Given the description of an element on the screen output the (x, y) to click on. 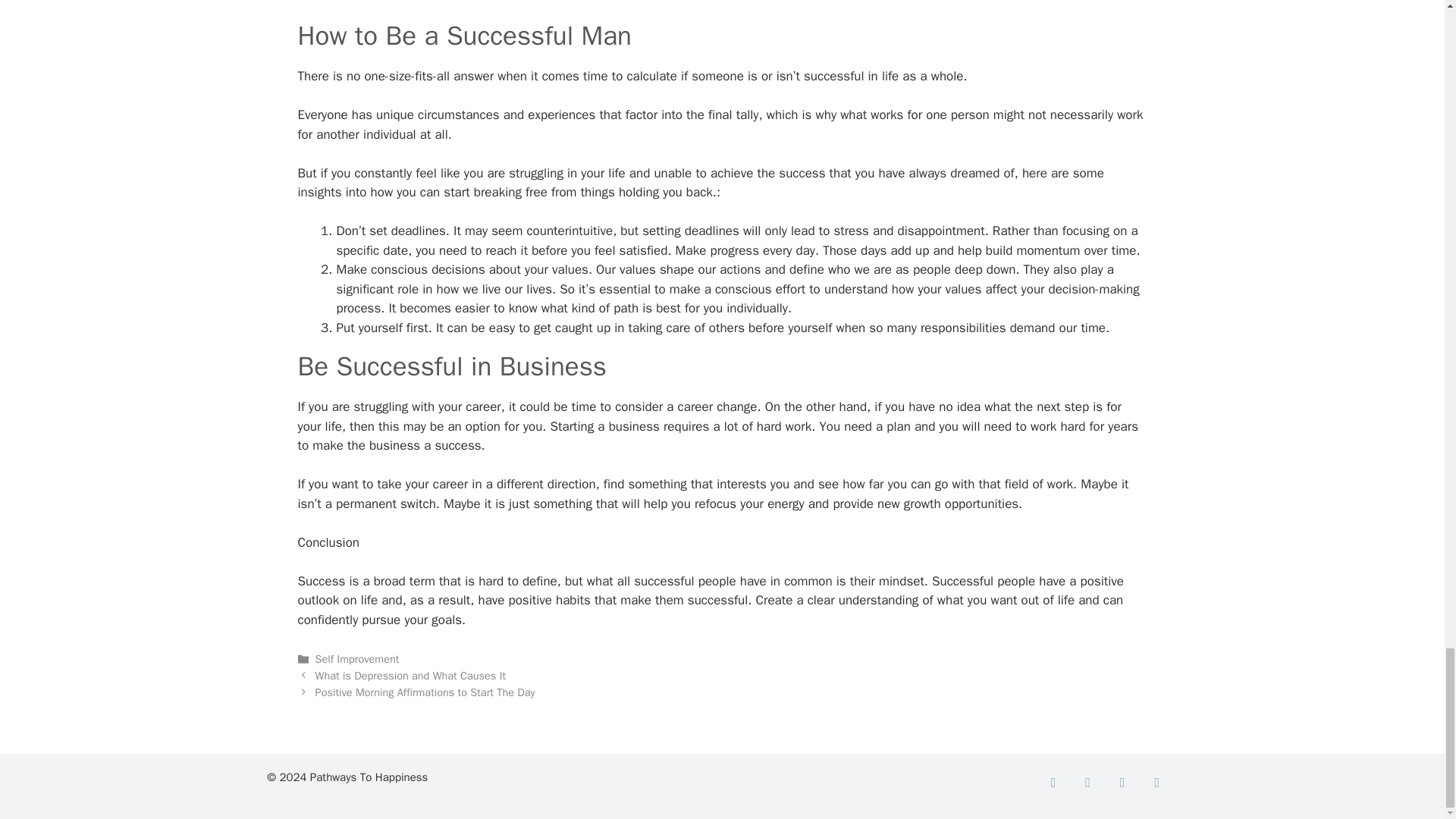
Positive Morning Affirmations to Start The Day (425, 692)
Twitter (1088, 783)
Instagram (1122, 783)
Pinterest (1157, 783)
Facebook (1053, 783)
What is Depression and What Causes It (410, 675)
Self Improvement (356, 658)
